Given the description of an element on the screen output the (x, y) to click on. 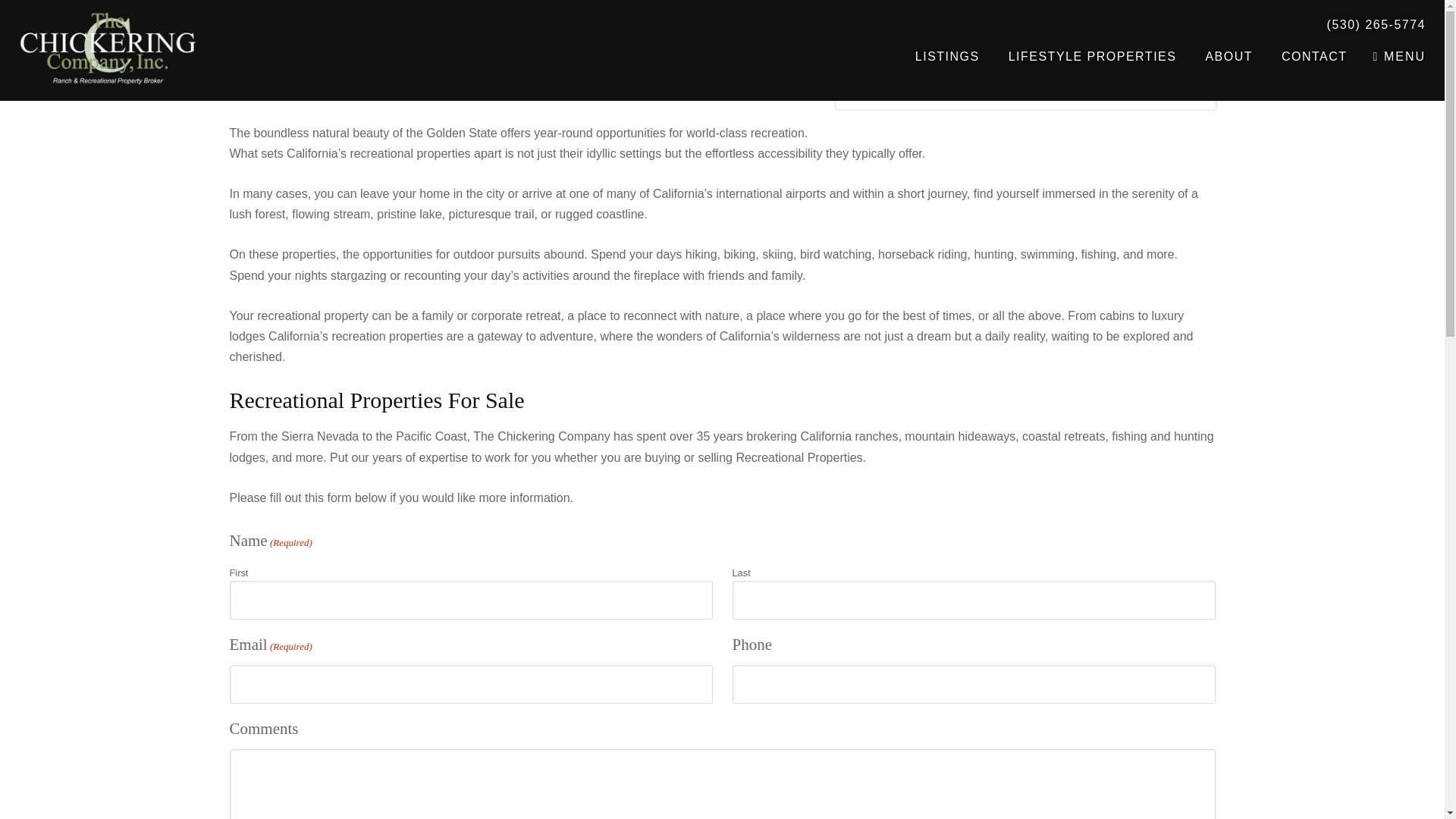
LISTINGS (946, 56)
LIFESTYLE PROPERTIES (1092, 56)
CONTACT (1314, 56)
MENU (1399, 56)
ABOUT (1228, 56)
